Given the description of an element on the screen output the (x, y) to click on. 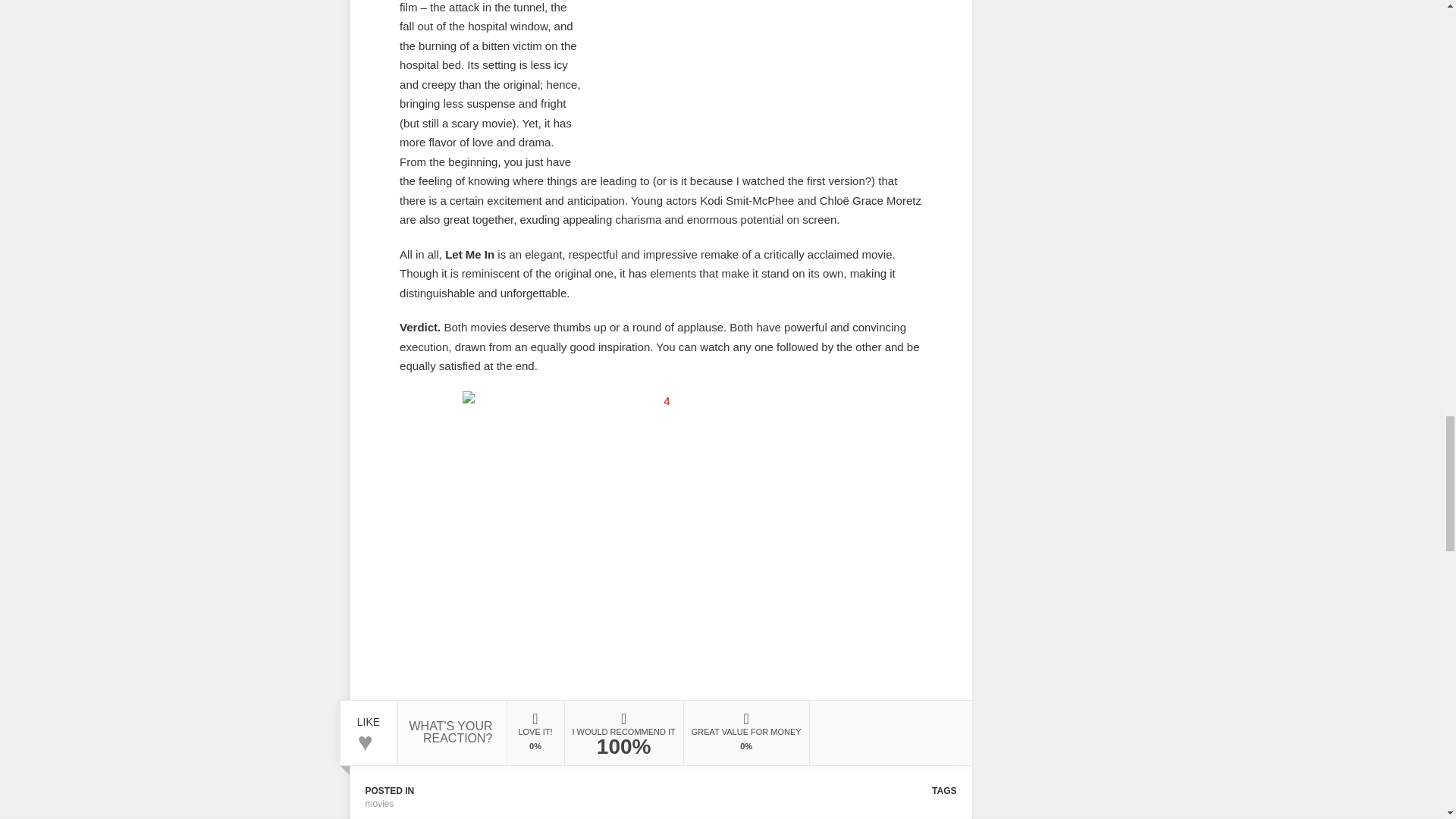
Likes (368, 715)
movies (379, 803)
LIKE (368, 715)
View all posts in movies (379, 803)
